Given the description of an element on the screen output the (x, y) to click on. 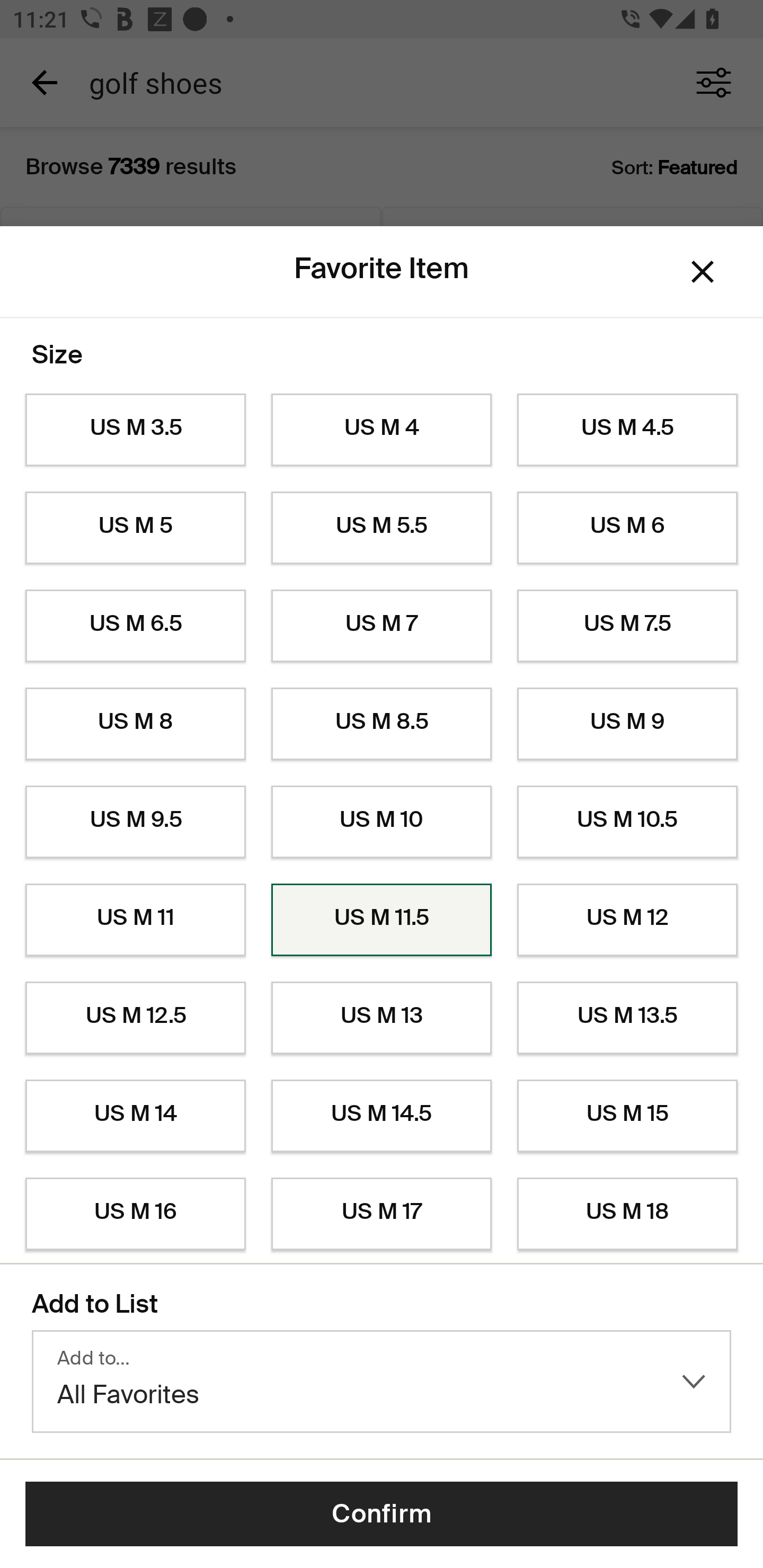
Dismiss (702, 271)
US M 3.5 (135, 430)
US M 4 (381, 430)
US M 4.5 (627, 430)
US M 5 (135, 527)
US M 5.5 (381, 527)
US M 6 (627, 527)
US M 6.5 (135, 626)
US M 7 (381, 626)
US M 7.5 (627, 626)
US M 8 (135, 724)
US M 8.5 (381, 724)
US M 9 (627, 724)
US M 9.5 (135, 822)
US M 10 (381, 822)
US M 10.5 (627, 822)
US M 11 (135, 919)
US M 11.5 (381, 919)
US M 12 (627, 919)
US M 12.5 (135, 1018)
US M 13 (381, 1018)
US M 13.5 (627, 1018)
US M 14 (135, 1116)
US M 14.5 (381, 1116)
US M 15 (627, 1116)
US M 16 (135, 1214)
US M 17 (381, 1214)
US M 18 (627, 1214)
Add to… All Favorites (381, 1381)
Confirm (381, 1513)
